Given the description of an element on the screen output the (x, y) to click on. 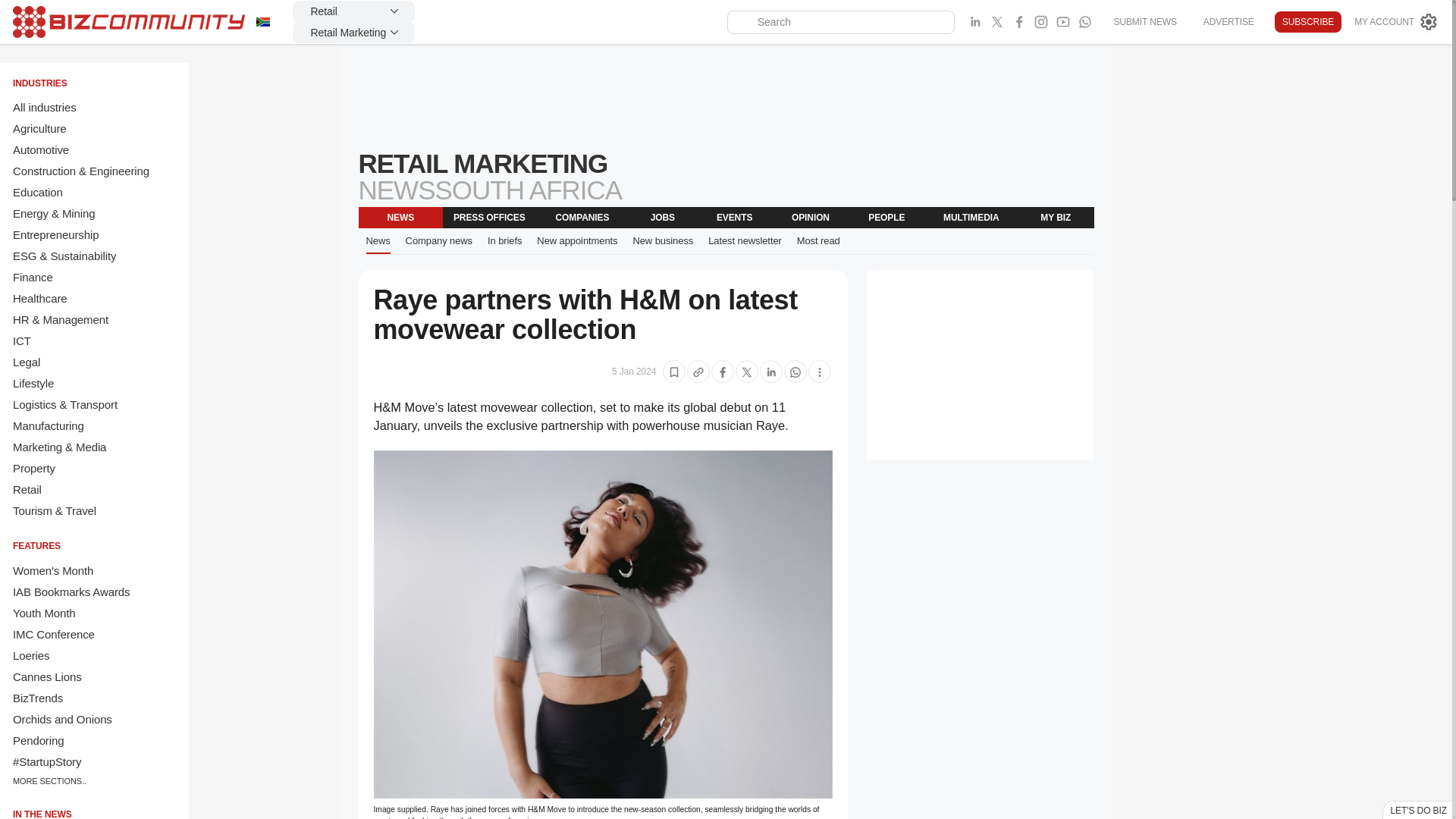
Bizcommunity facebook (1084, 22)
Bizcommunity facebook (1018, 22)
ADVERTISE (1228, 21)
Bizcommunity linked (975, 22)
MY ACCOUNT (1396, 21)
Bizcommunity youtube (1062, 22)
SUBMIT NEWS (1144, 21)
Bizcommunity instagram (1040, 22)
Retail (353, 11)
3rd party ad content (979, 364)
